Given the description of an element on the screen output the (x, y) to click on. 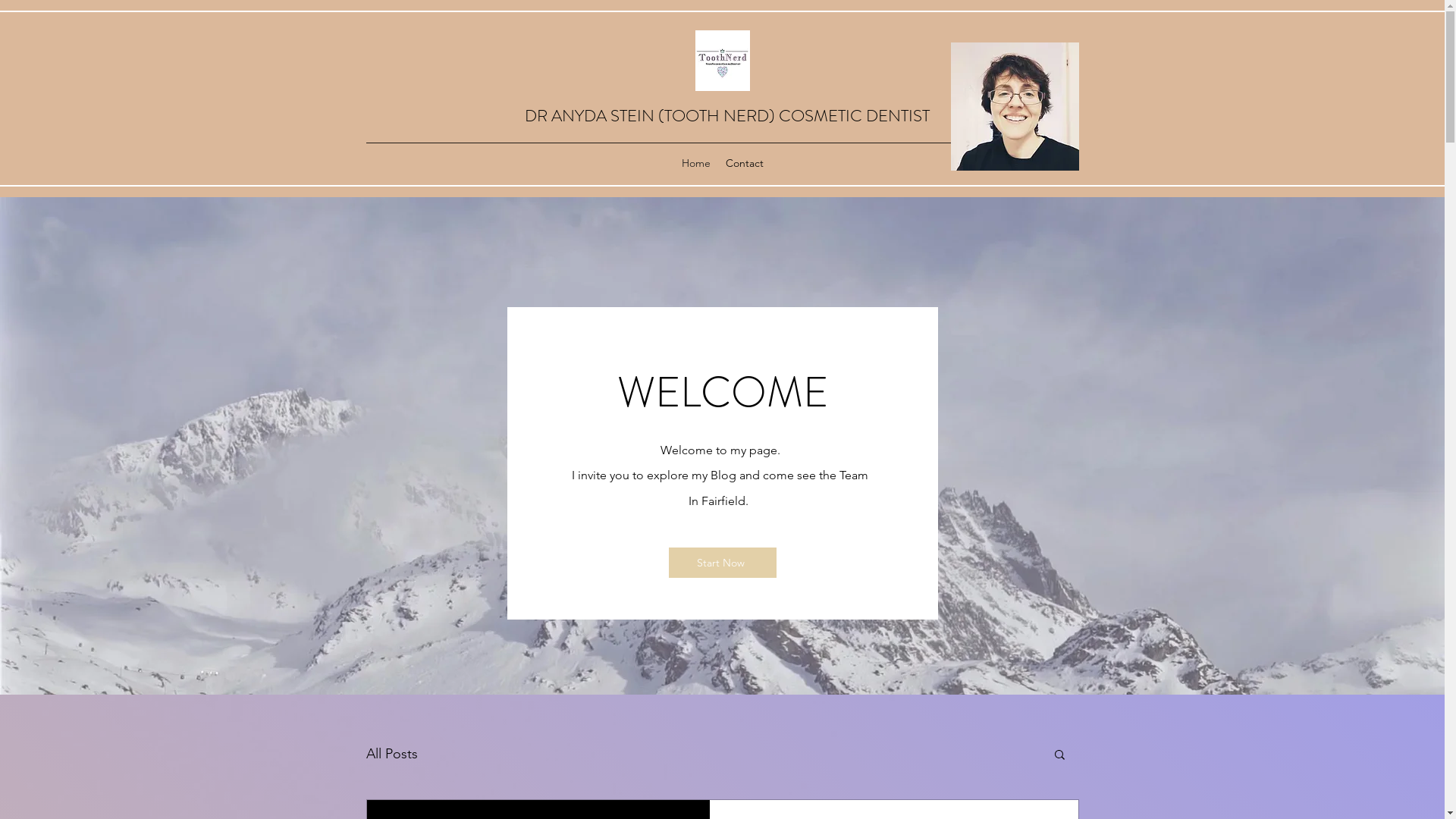
All Posts Element type: text (391, 753)
Contact Element type: text (743, 162)
Start Now Element type: text (722, 562)
DR ANYDA STEIN (TOOTH NERD) COSMETIC DENTIST Element type: text (726, 115)
Home Element type: text (695, 162)
62117700_10157280986052889_2975298556618866688_o.jpg Element type: hover (1014, 106)
